Given the description of an element on the screen output the (x, y) to click on. 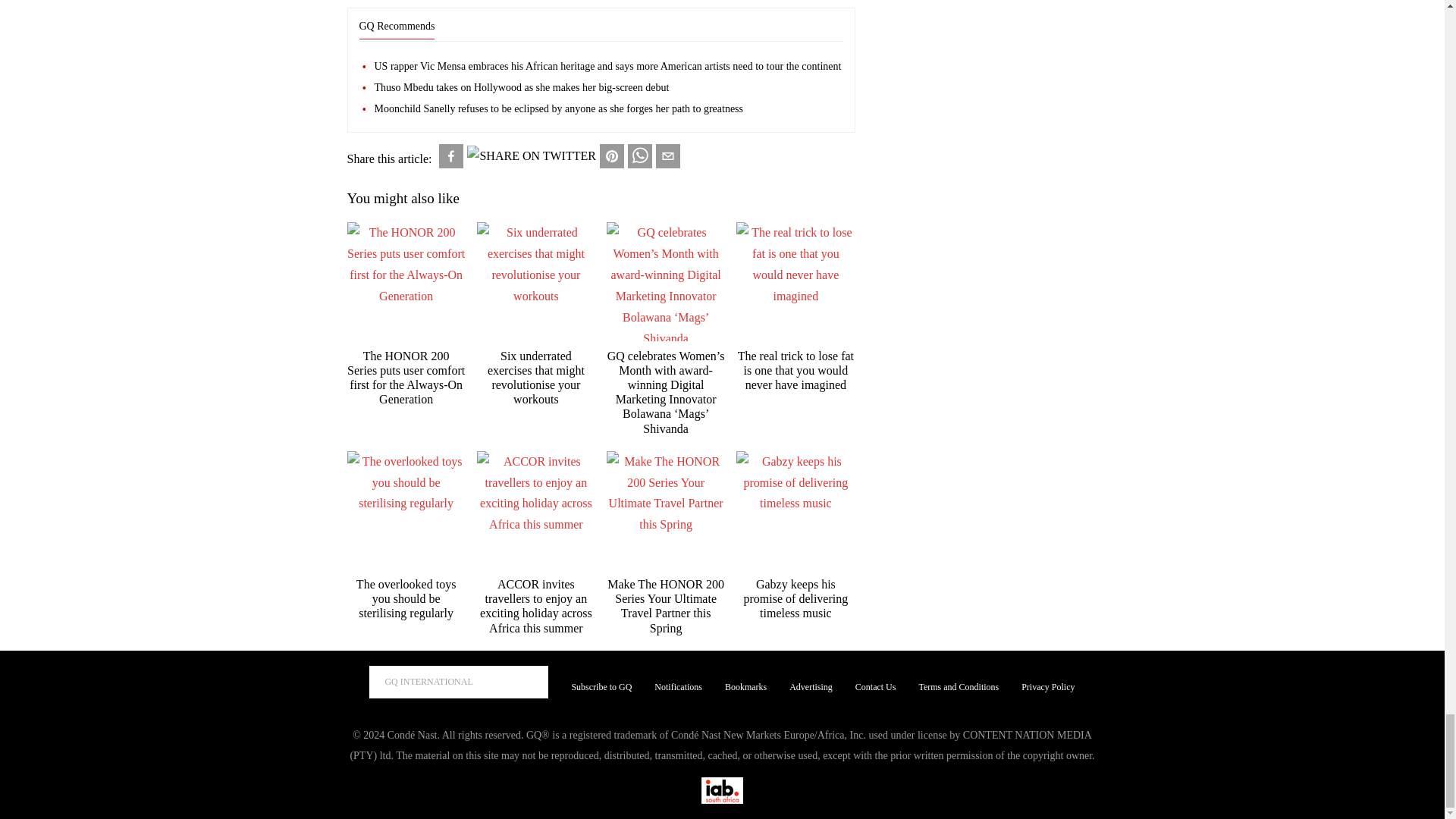
Share on Twitter (531, 156)
